Given the description of an element on the screen output the (x, y) to click on. 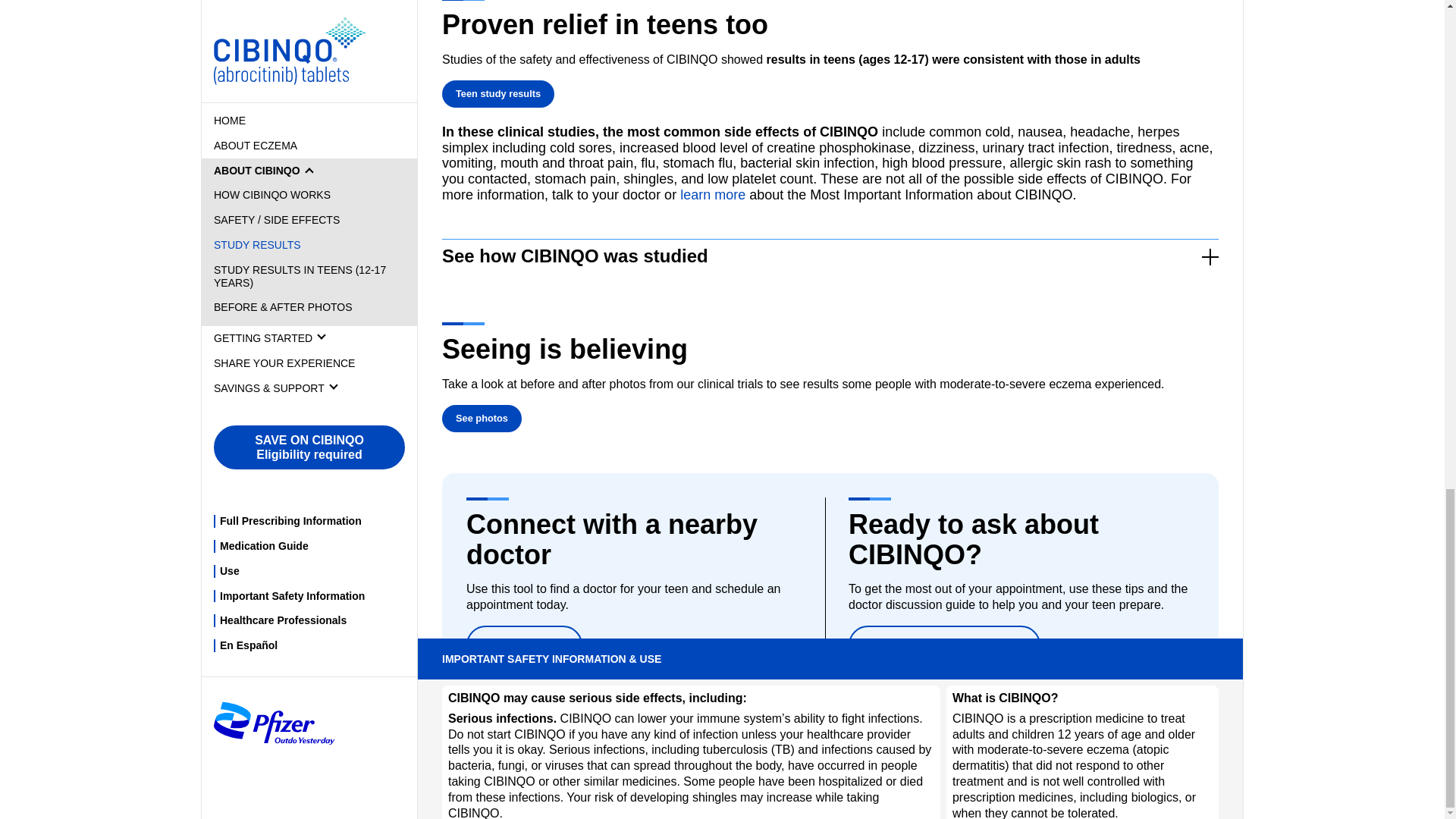
Find a doctor (523, 644)
learn more (712, 194)
Prep for your appointment (944, 644)
Prep for your appointment (944, 644)
See photos (481, 418)
Teen study results (498, 94)
Teen study results (498, 94)
learn more (712, 194)
Find a doctor (523, 644)
See photos (481, 418)
